Given the description of an element on the screen output the (x, y) to click on. 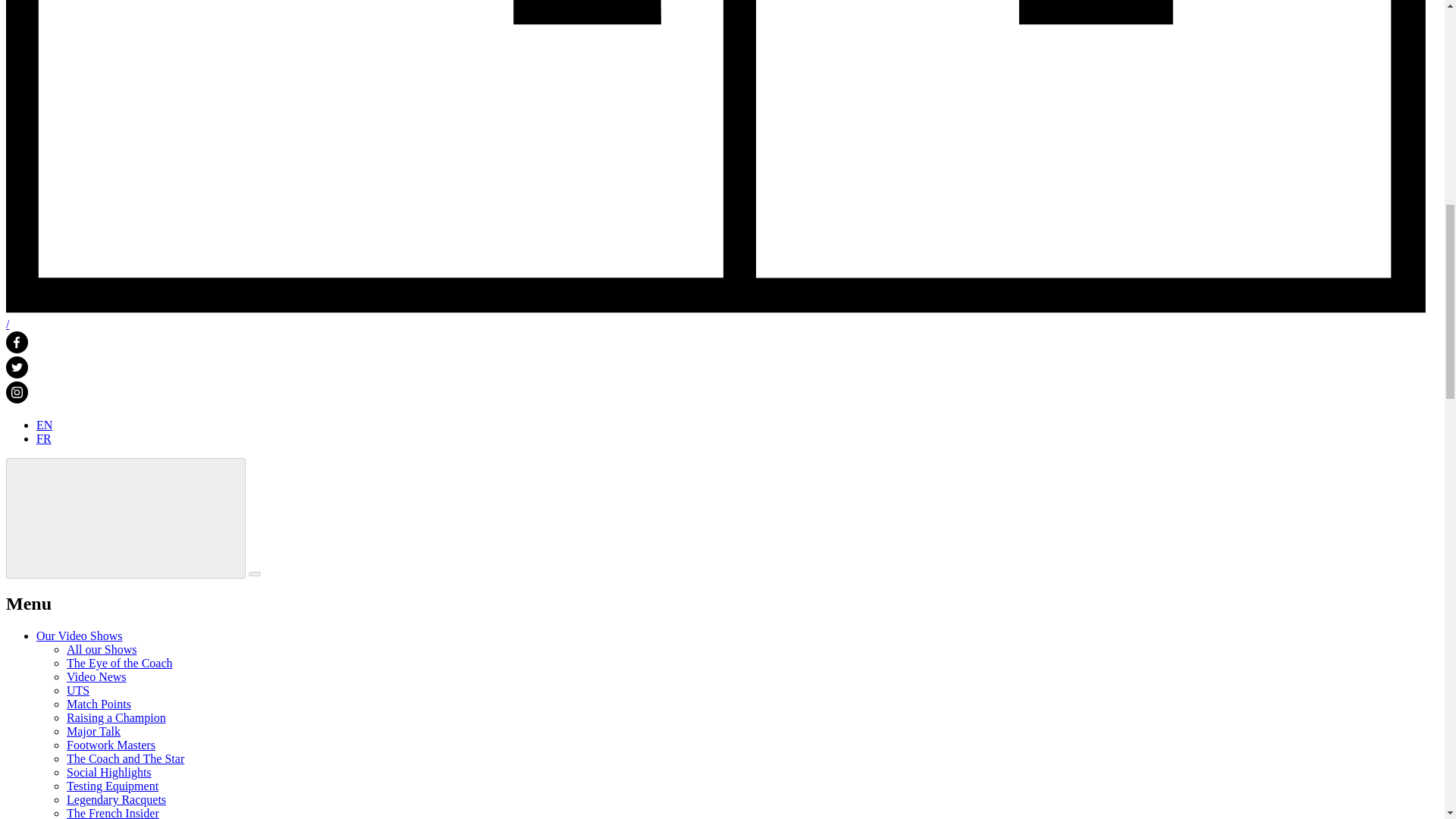
The Eye of the Coach (119, 662)
The Coach and The Star (125, 758)
Legendary Racquets (115, 799)
FR (43, 438)
Raising a Champion (115, 717)
Major Talk (93, 730)
All our Shows (101, 649)
Link to our Twitter (16, 373)
Link to our Facebook (16, 349)
The French Insider (112, 812)
